Given the description of an element on the screen output the (x, y) to click on. 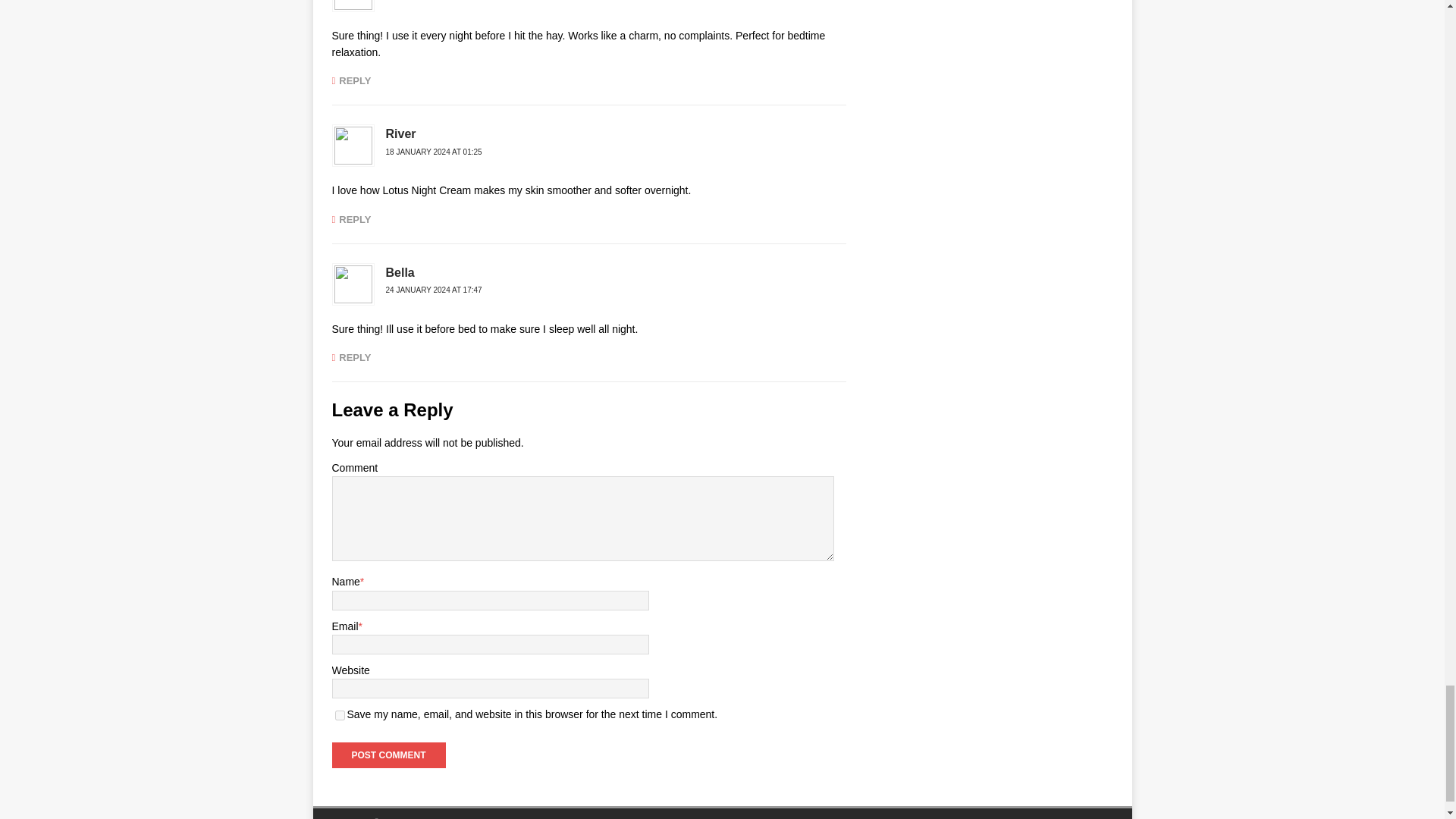
Post Comment (388, 755)
yes (339, 715)
